Given the description of an element on the screen output the (x, y) to click on. 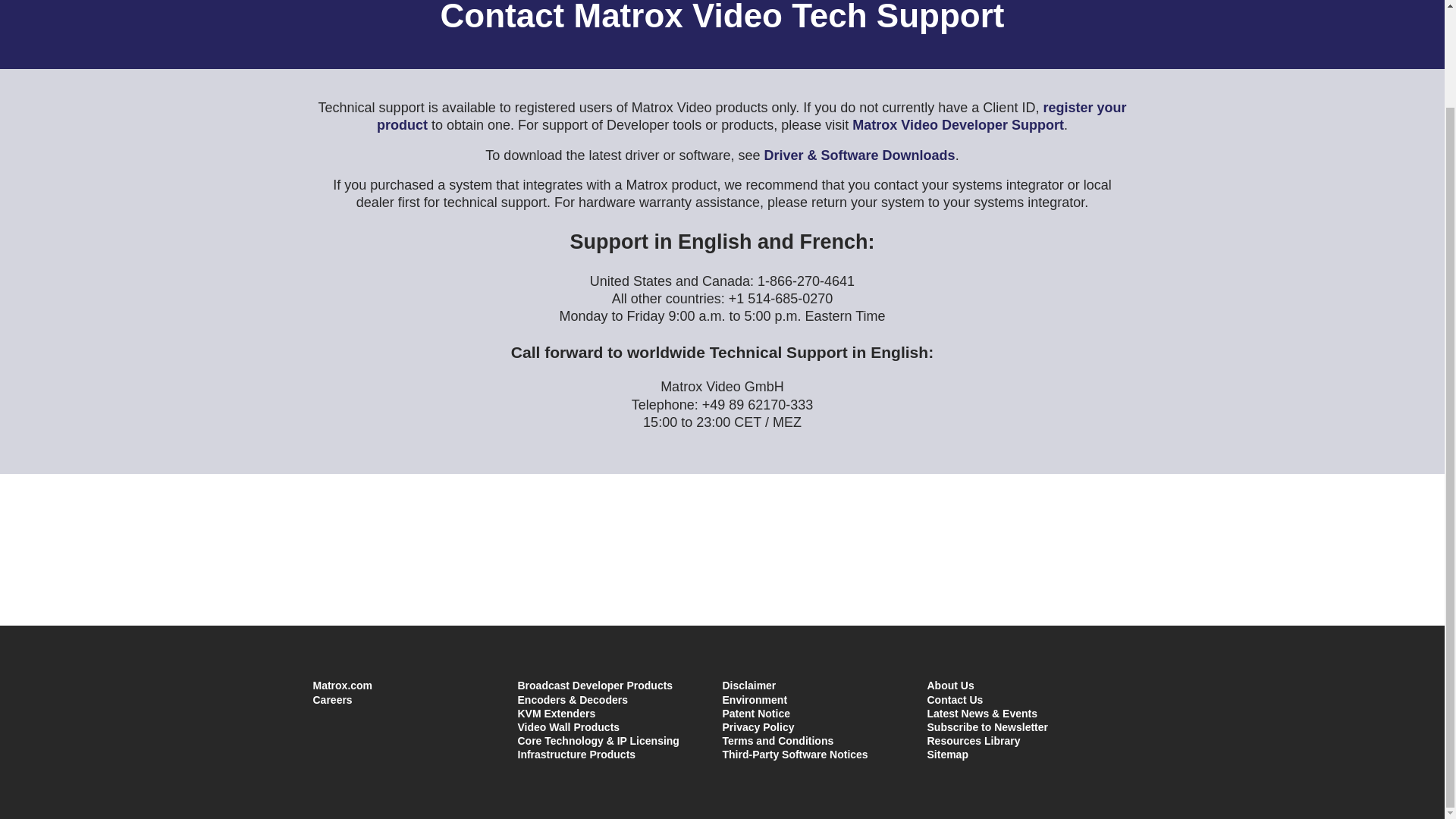
Broadcast Developer Products (594, 685)
Matrox Video Developer Support (957, 124)
Environment (754, 699)
Third-Party Software Notices (794, 754)
About Us (950, 685)
Terms and Conditions (777, 740)
Matrox.com (342, 685)
Video Wall Products (568, 727)
Sitemap (947, 754)
Subscribe to Newsletter (987, 727)
Resources Library (973, 740)
register your product (751, 115)
Careers (332, 699)
Contact Us (954, 699)
Disclaimer (749, 685)
